Given the description of an element on the screen output the (x, y) to click on. 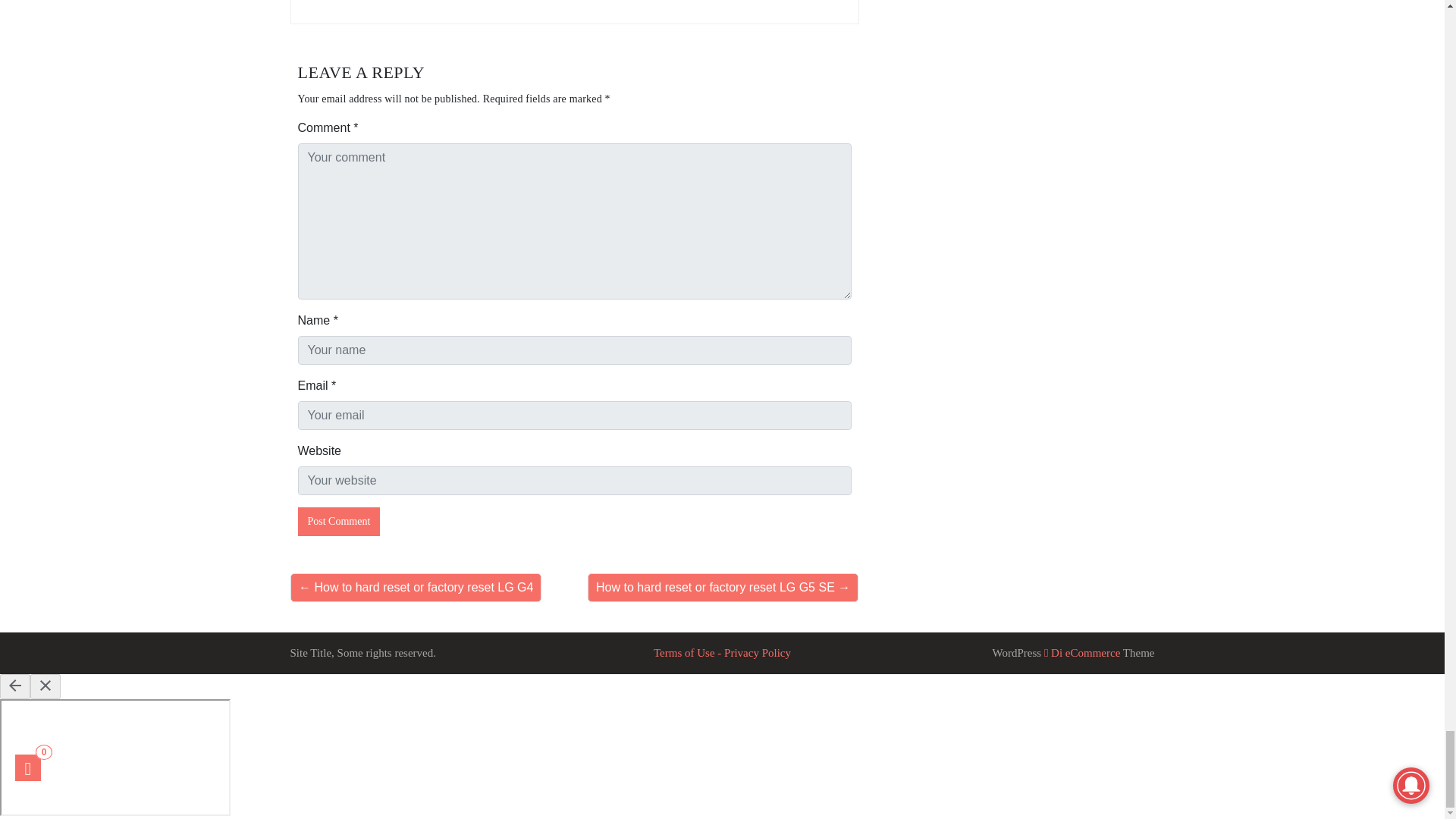
Post Comment (338, 521)
